Given the description of an element on the screen output the (x, y) to click on. 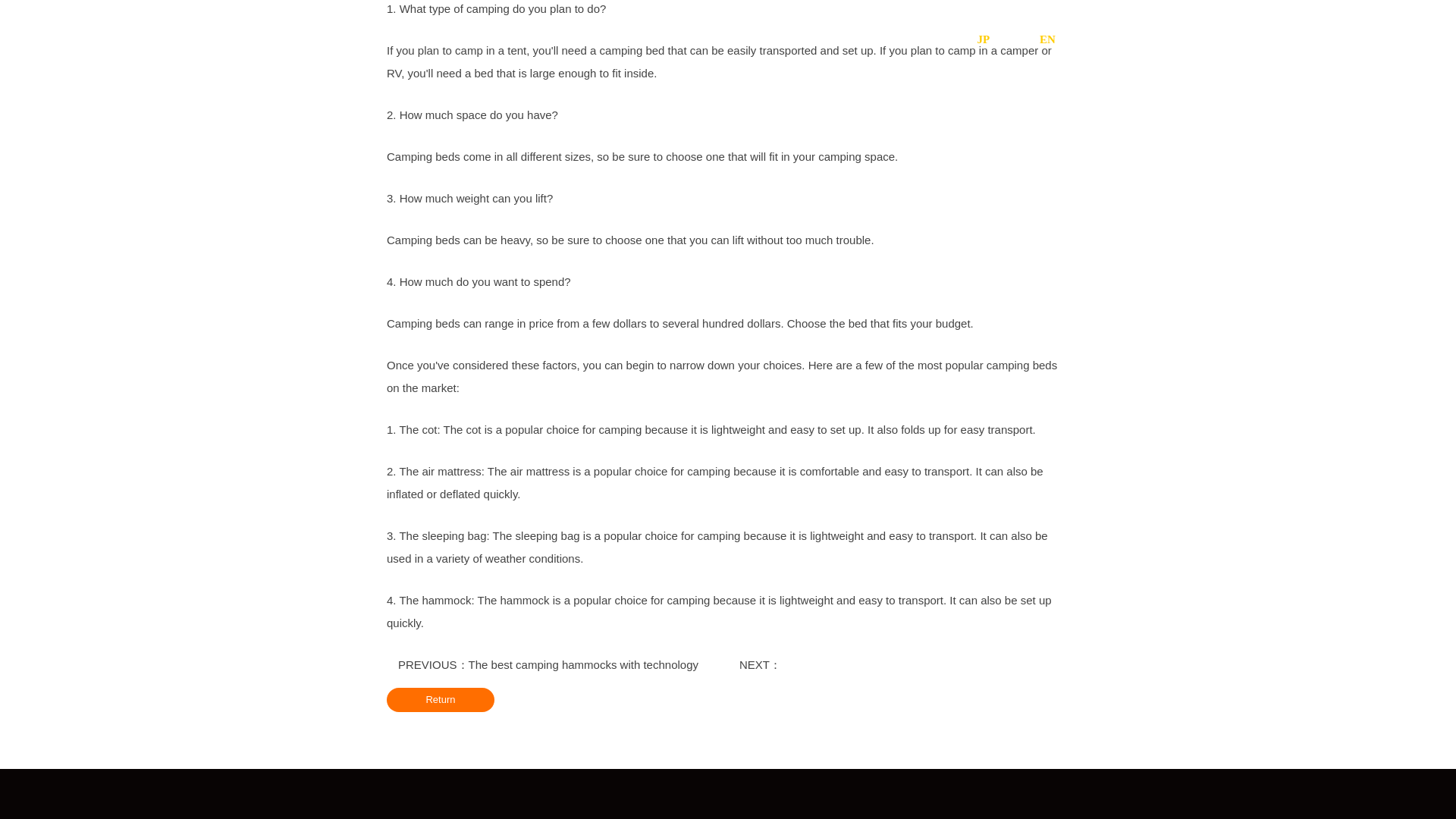
The best camping hammocks with technology (583, 664)
